Given the description of an element on the screen output the (x, y) to click on. 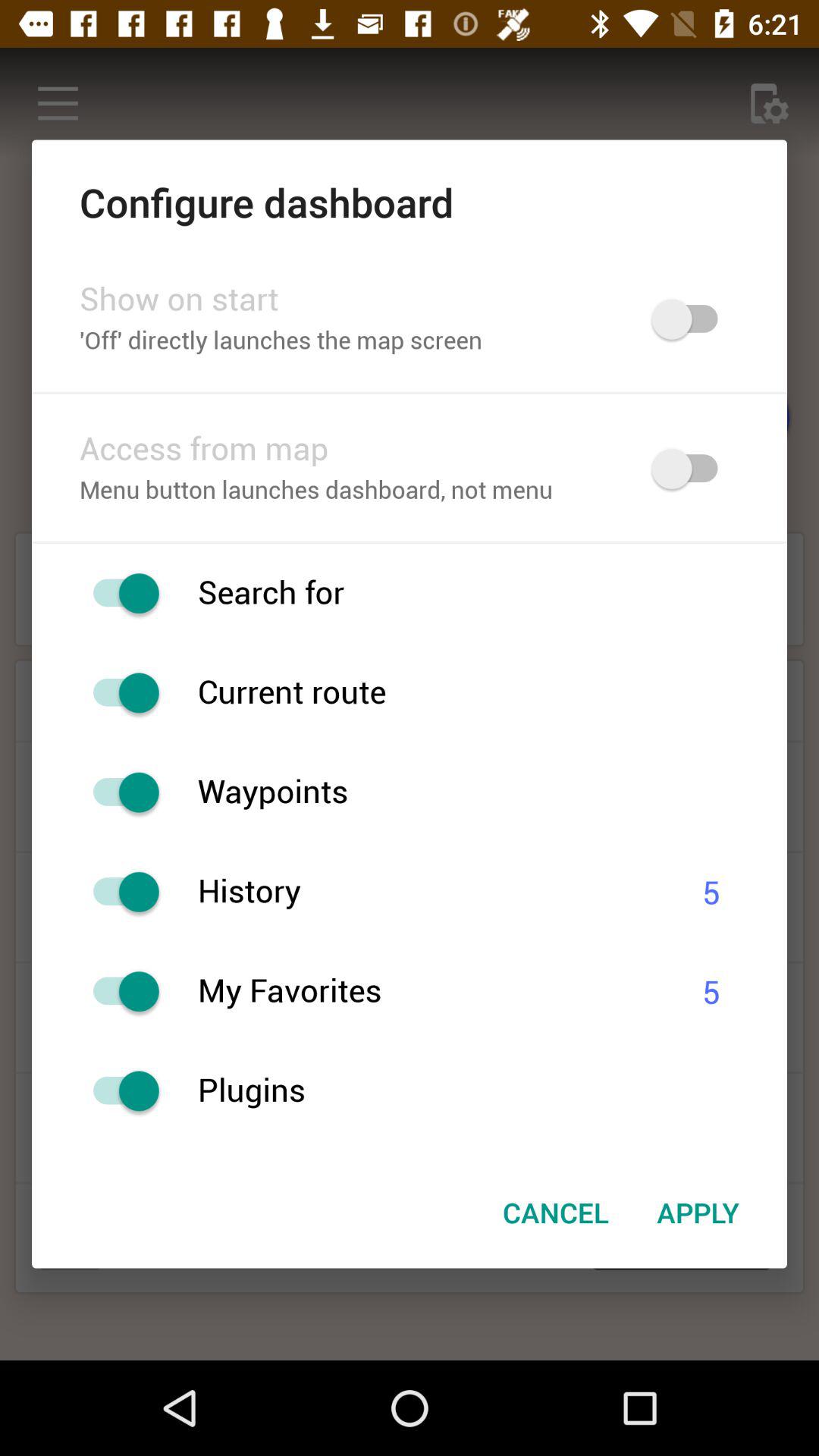
turn on the my favorites item (430, 991)
